Given the description of an element on the screen output the (x, y) to click on. 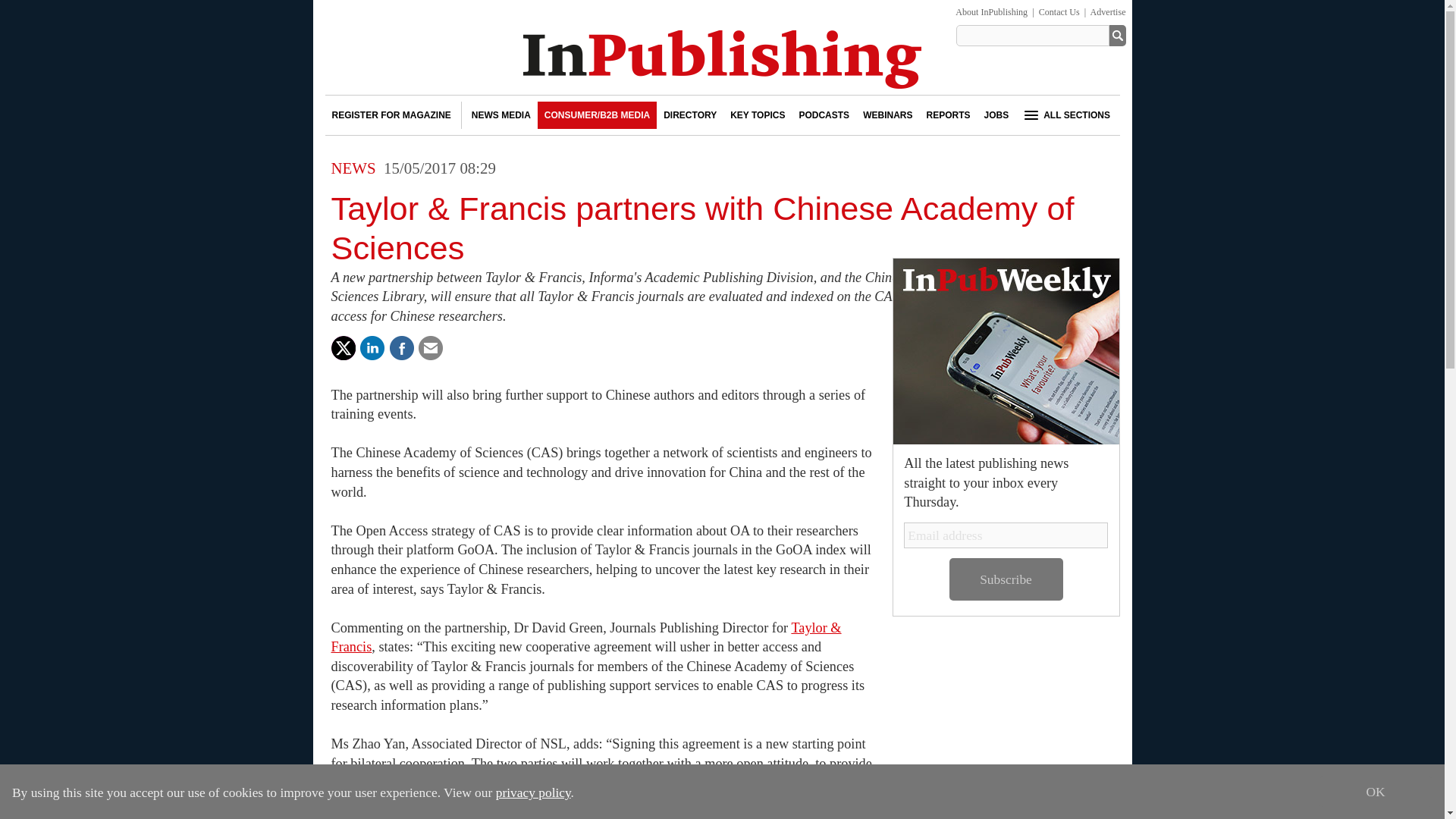
NEWS MEDIA (500, 114)
Contact Us (1059, 11)
JOBS (995, 114)
ALL SECTIONS (1065, 114)
Subscribe (1005, 578)
REGISTER FOR MAGAZINE (390, 114)
DIRECTORY (689, 114)
WEBINARS (887, 114)
KEY TOPICS (757, 114)
REPORTS (947, 114)
